Given the description of an element on the screen output the (x, y) to click on. 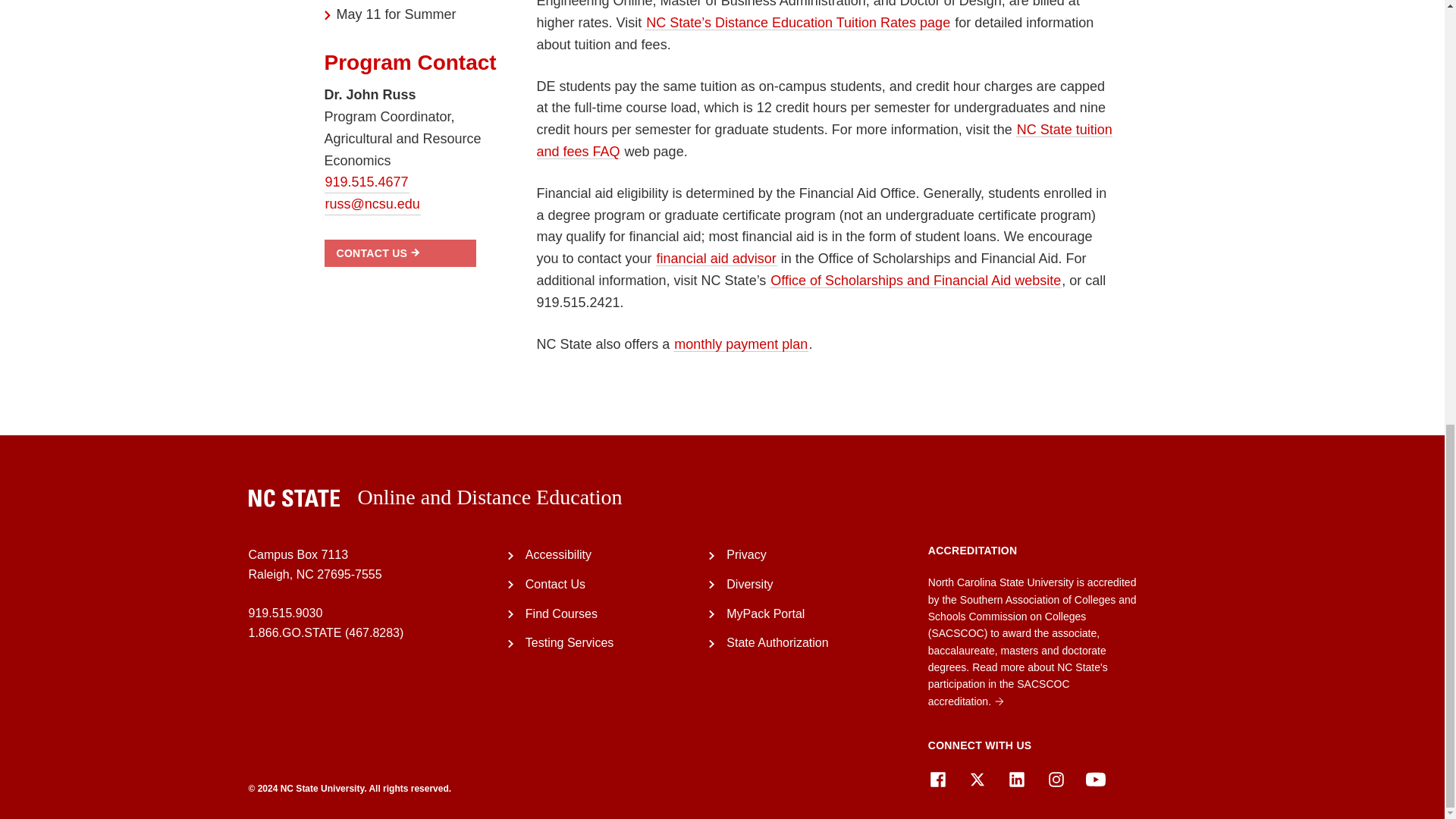
X (977, 779)
Instagram (1055, 779)
Facebook (937, 779)
YouTube (1095, 779)
LinkedIn (1016, 779)
